Given the description of an element on the screen output the (x, y) to click on. 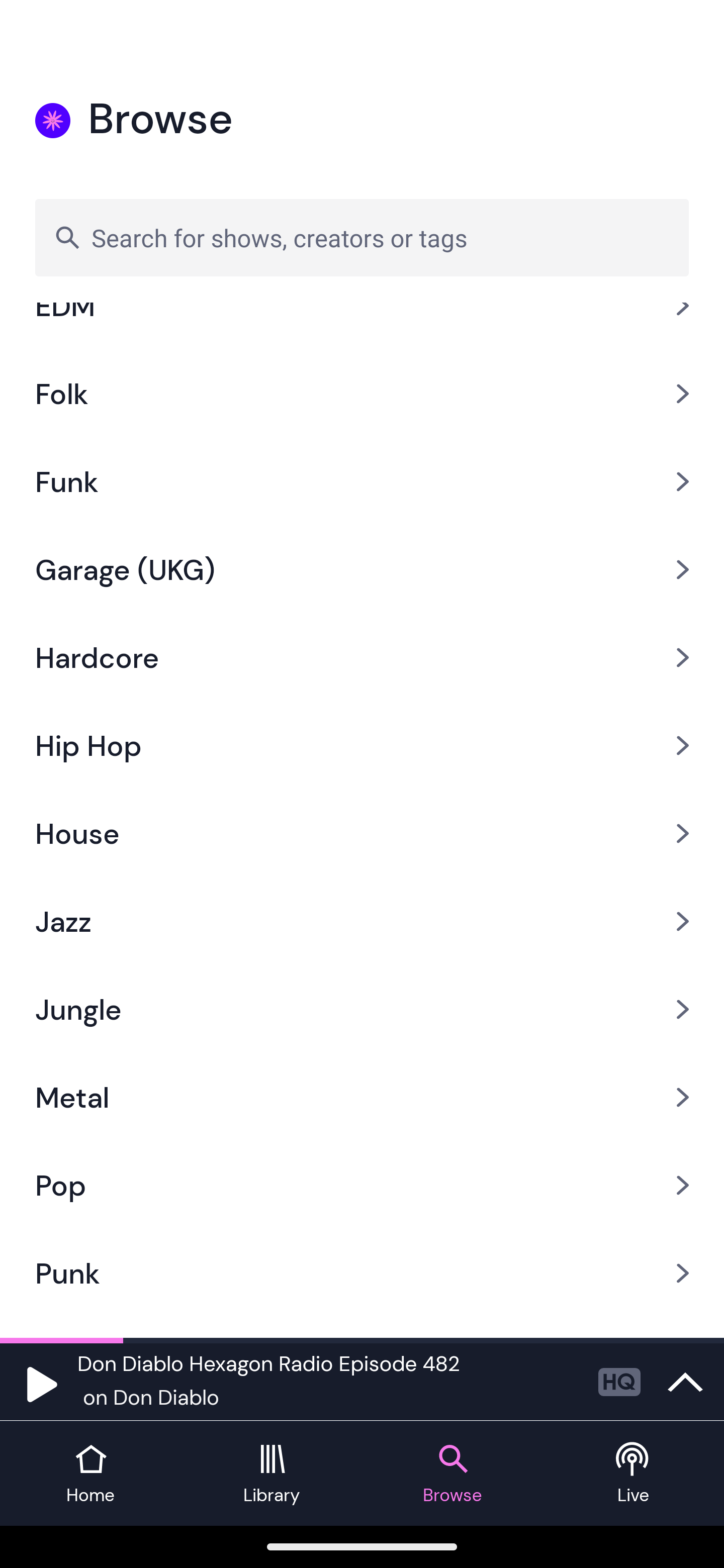
Search for shows, creators or tags (361, 237)
Folk (361, 393)
Funk (361, 481)
Garage (UKG) (361, 569)
Hardcore (361, 656)
Hip Hop (361, 745)
House (361, 834)
Jazz (361, 921)
Jungle (361, 1009)
Metal (361, 1097)
Pop (361, 1185)
Punk (361, 1273)
Home tab Home (90, 1473)
Library tab Library (271, 1473)
Browse tab Browse (452, 1473)
Live tab Live (633, 1473)
